Given the description of an element on the screen output the (x, y) to click on. 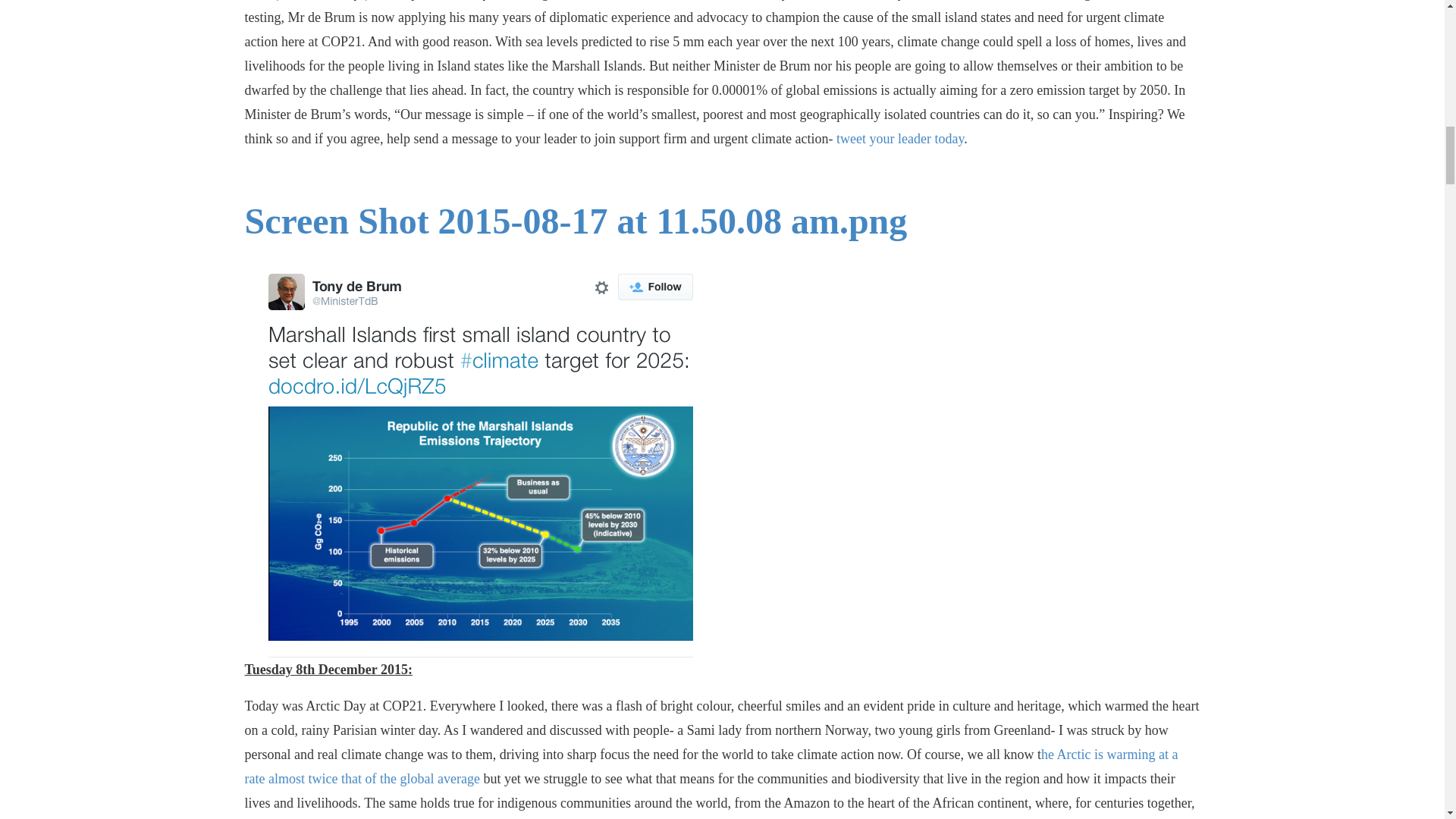
tweet your leader today (899, 138)
Screen Shot 2015-08-17 at 11.50.08 am.png (575, 220)
